Given the description of an element on the screen output the (x, y) to click on. 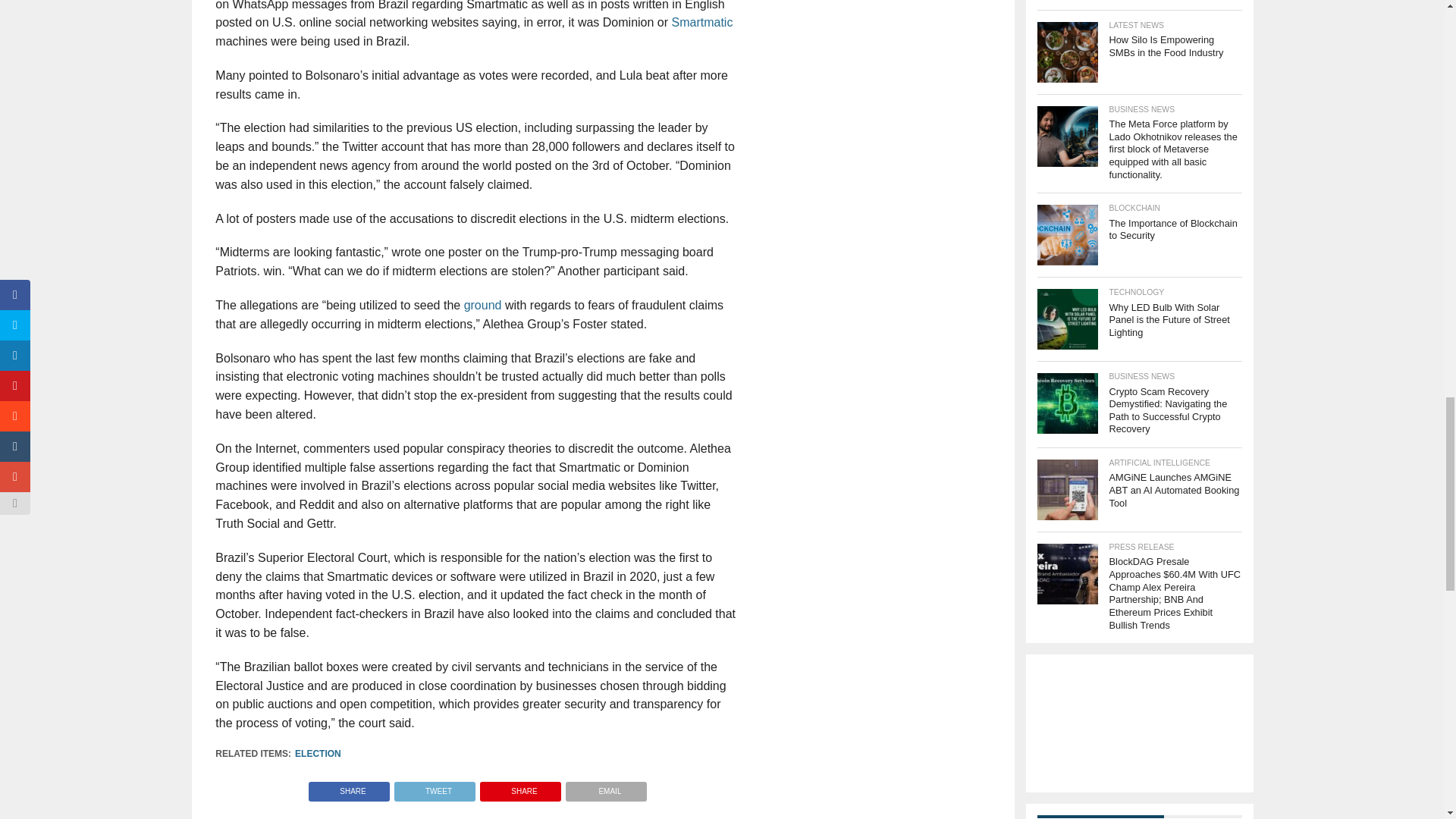
Pin This Post (520, 787)
Tweet This Post (434, 787)
Share on Facebook (349, 787)
